Given the description of an element on the screen output the (x, y) to click on. 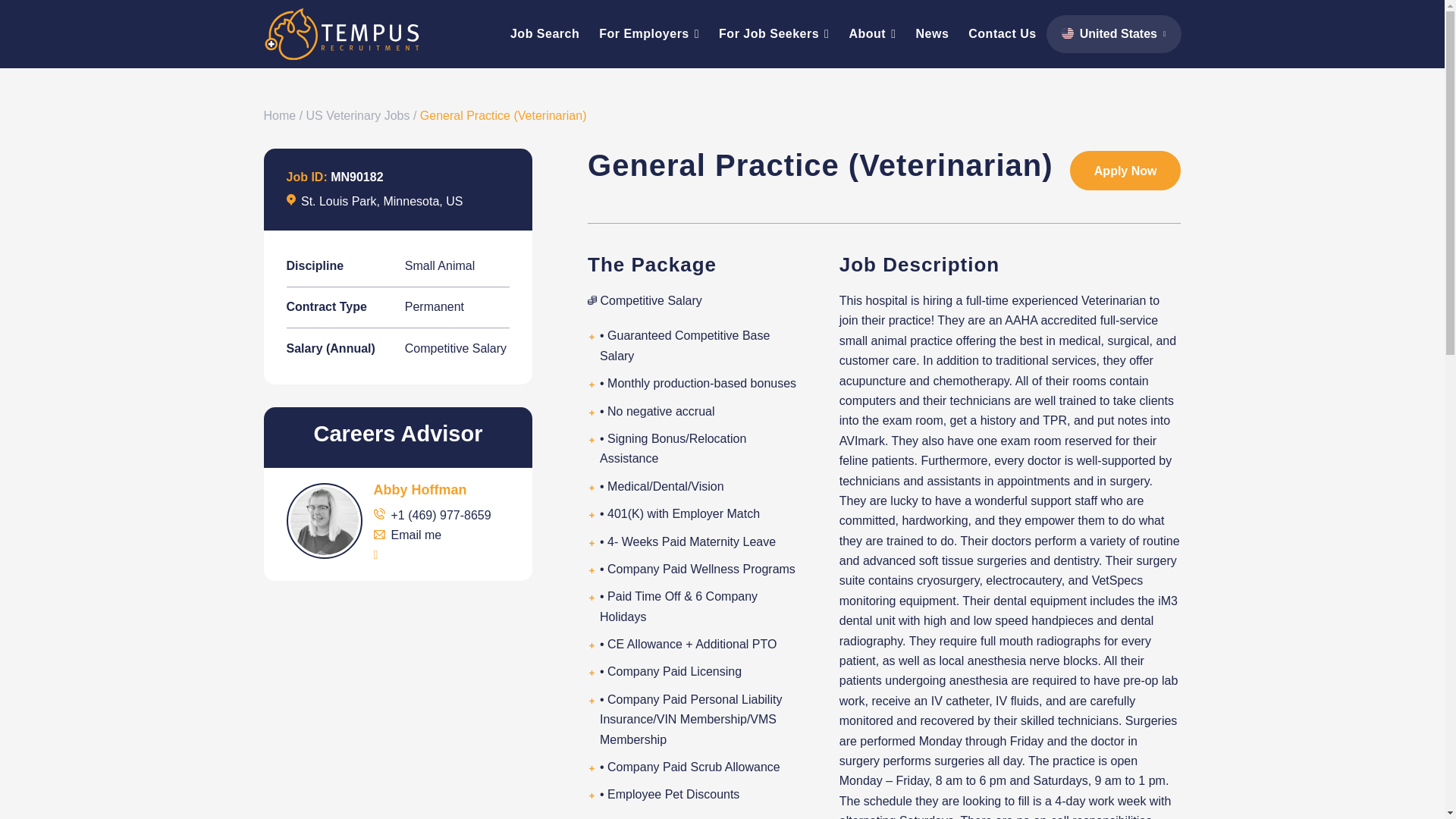
Contact Us (1001, 33)
Home (280, 115)
tempus-recruitment-logo-white (341, 33)
Job Search (544, 33)
Small Animal (439, 265)
US (454, 201)
tempus-recruitment-logo-white (341, 33)
St. Louis Park (339, 201)
About (871, 33)
For Job Seekers (773, 33)
